Given the description of an element on the screen output the (x, y) to click on. 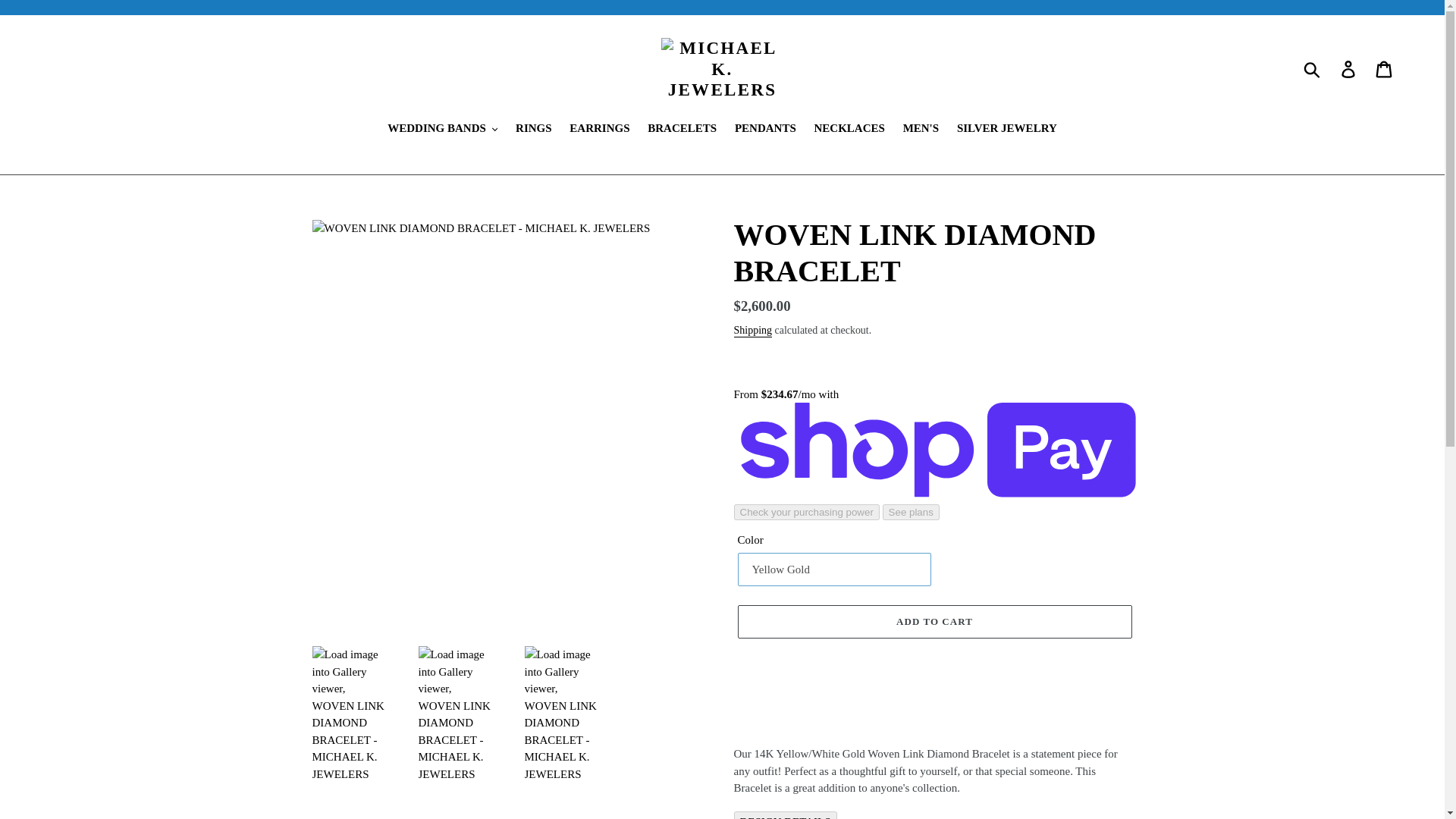
Cart (1385, 68)
BRACELETS (681, 129)
Shipping (753, 330)
Submit (1313, 68)
Log in (1349, 68)
EARRINGS (599, 129)
PENDANTS (764, 129)
ADD TO CART (933, 621)
MEN'S (921, 129)
SILVER JEWELRY (1006, 129)
NECKLACES (849, 129)
RINGS (533, 129)
